Given the description of an element on the screen output the (x, y) to click on. 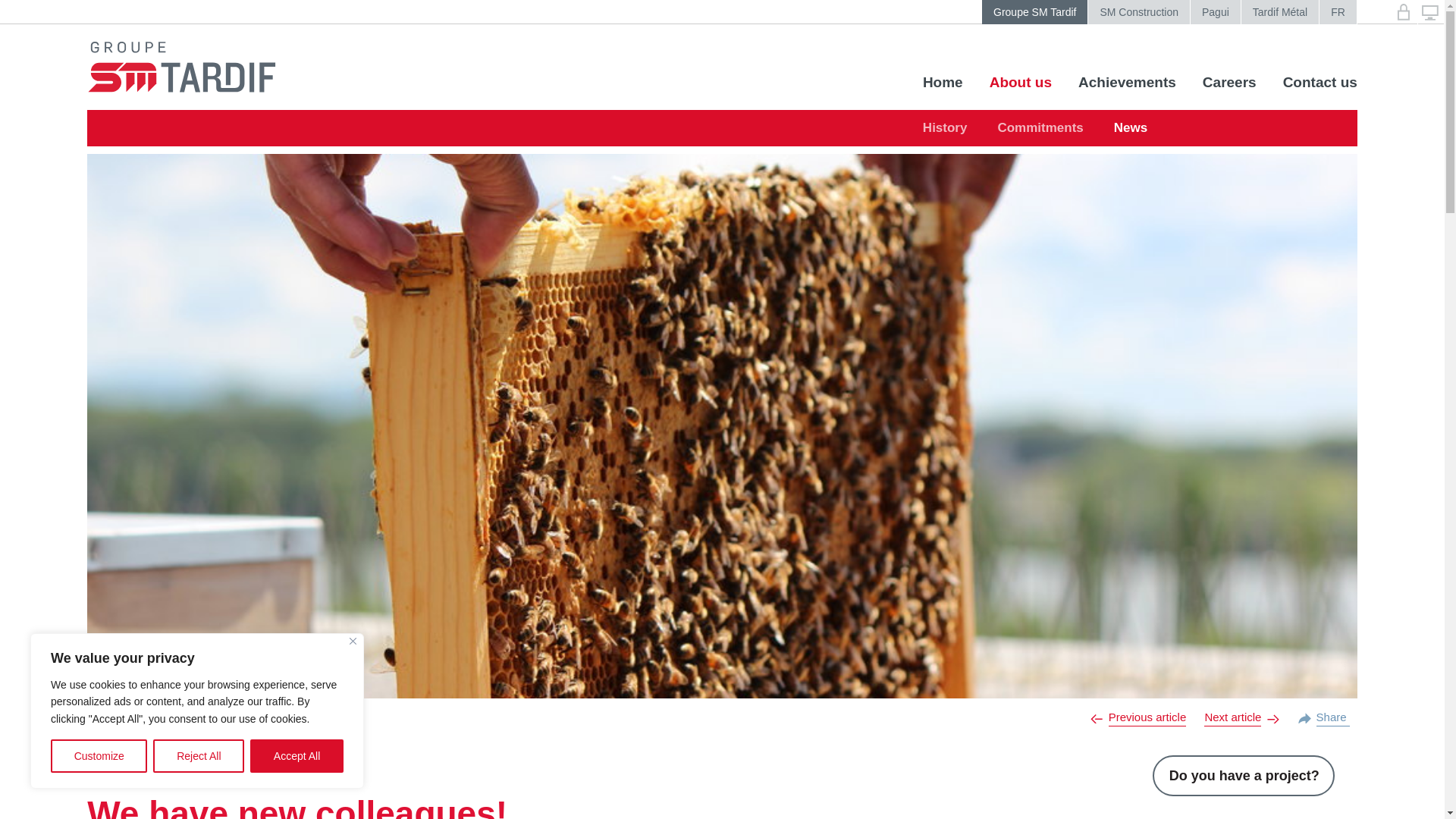
FR (1337, 12)
Pagui (1215, 12)
Reject All (198, 756)
FR (1337, 12)
Customize (98, 756)
Accept All (296, 756)
Groupe SM Tardif (1034, 12)
SM Construction (1138, 12)
